Given the description of an element on the screen output the (x, y) to click on. 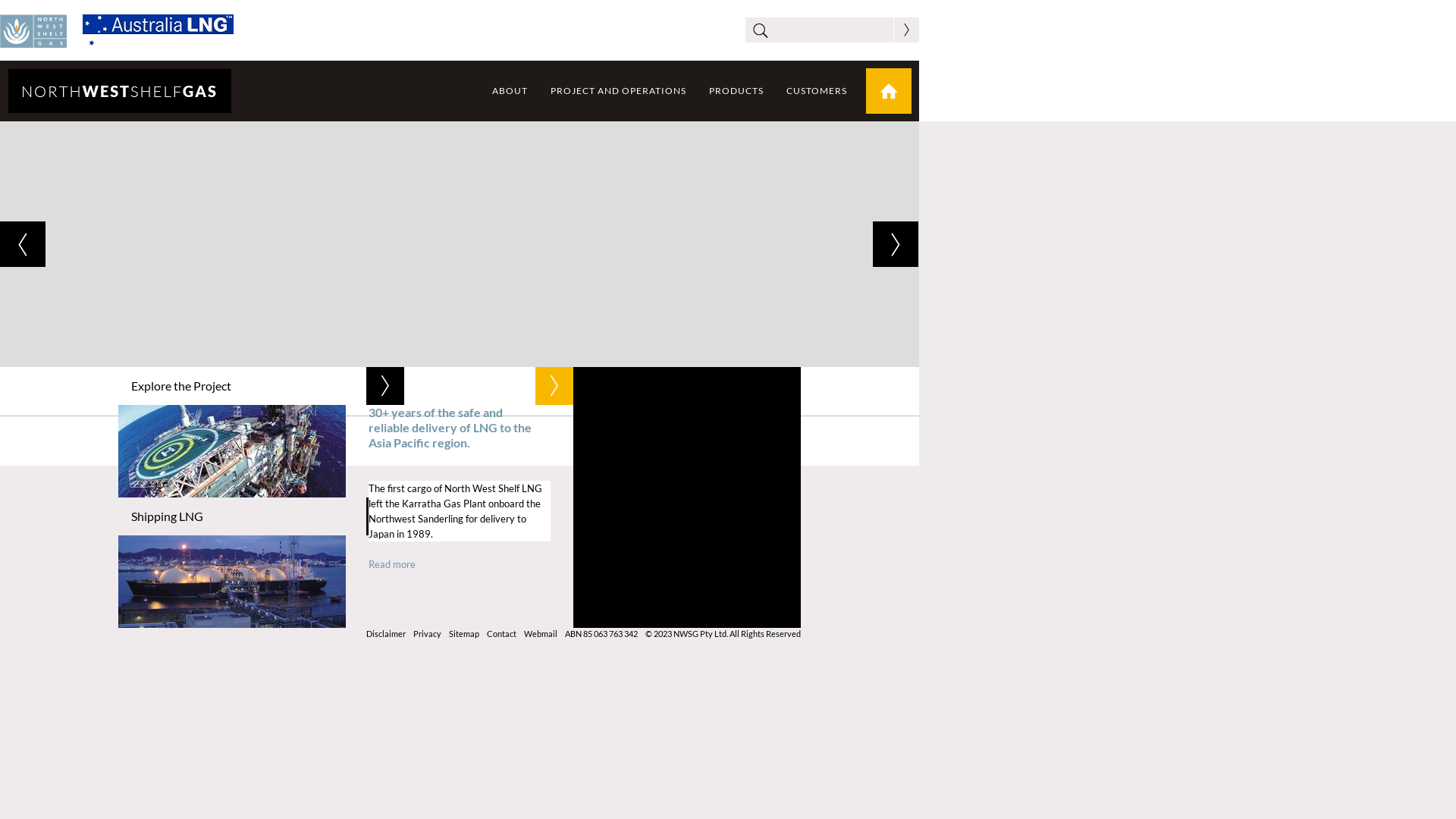
North West Shelf Gas Element type: text (119, 90)
Contact Element type: text (501, 633)
Disclaimer Element type: text (385, 633)
Shipping LNG Element type: text (261, 516)
Webmail Element type: text (540, 633)
CUSTOMERS Element type: text (816, 90)
Privacy Element type: text (427, 633)
Read more Element type: text (391, 560)
Sitemap Element type: text (463, 633)
PRODUCTS Element type: text (736, 90)
ABOUT Element type: text (509, 90)
Explore the Project Element type: text (261, 385)
PROJECT AND OPERATIONS Element type: text (618, 90)
HOME Element type: text (888, 90)
